Given the description of an element on the screen output the (x, y) to click on. 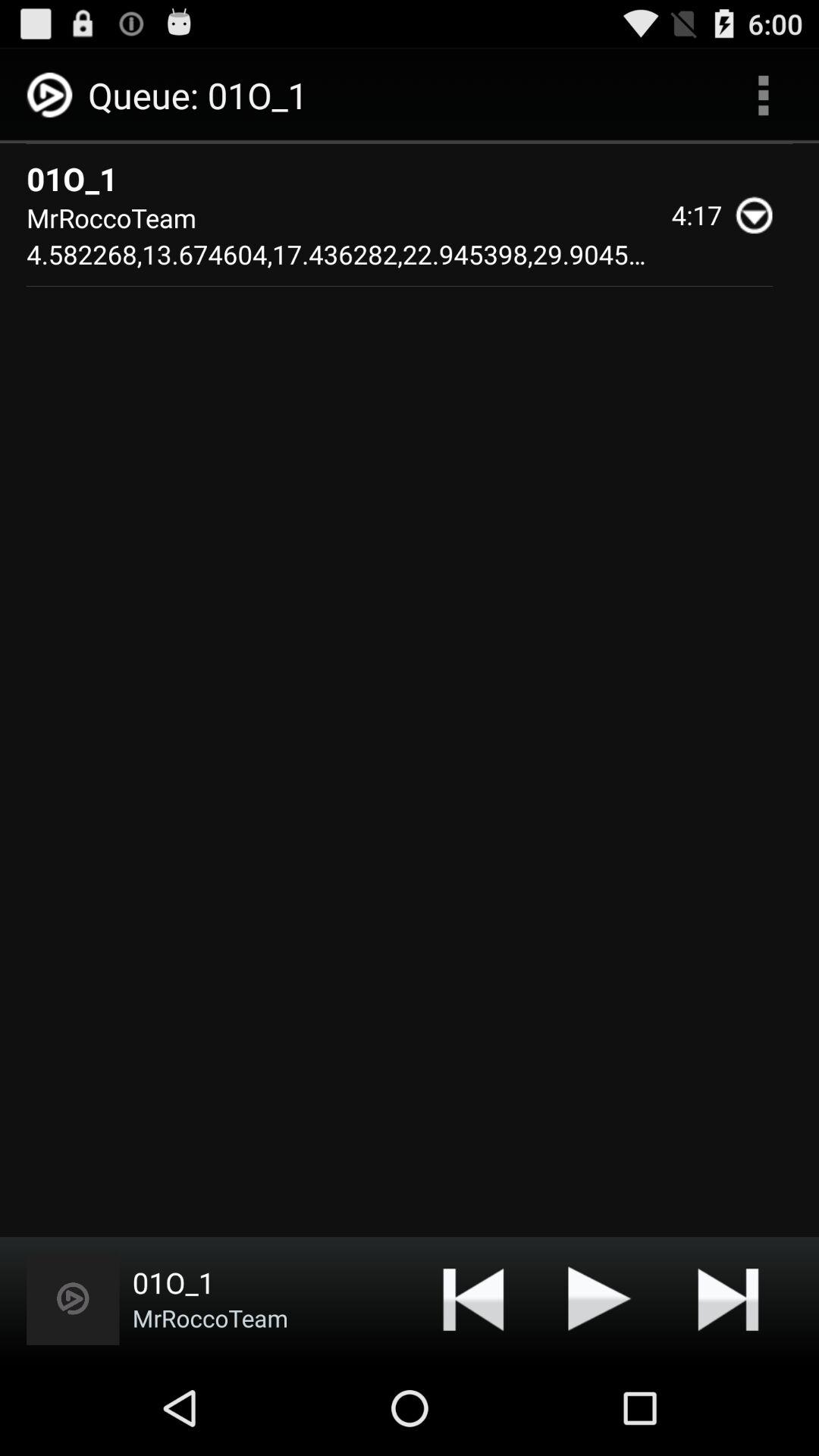
click on the top left icon (52, 95)
click on pause button (600, 1297)
click on icon which is beside 417 (760, 215)
